Given the description of an element on the screen output the (x, y) to click on. 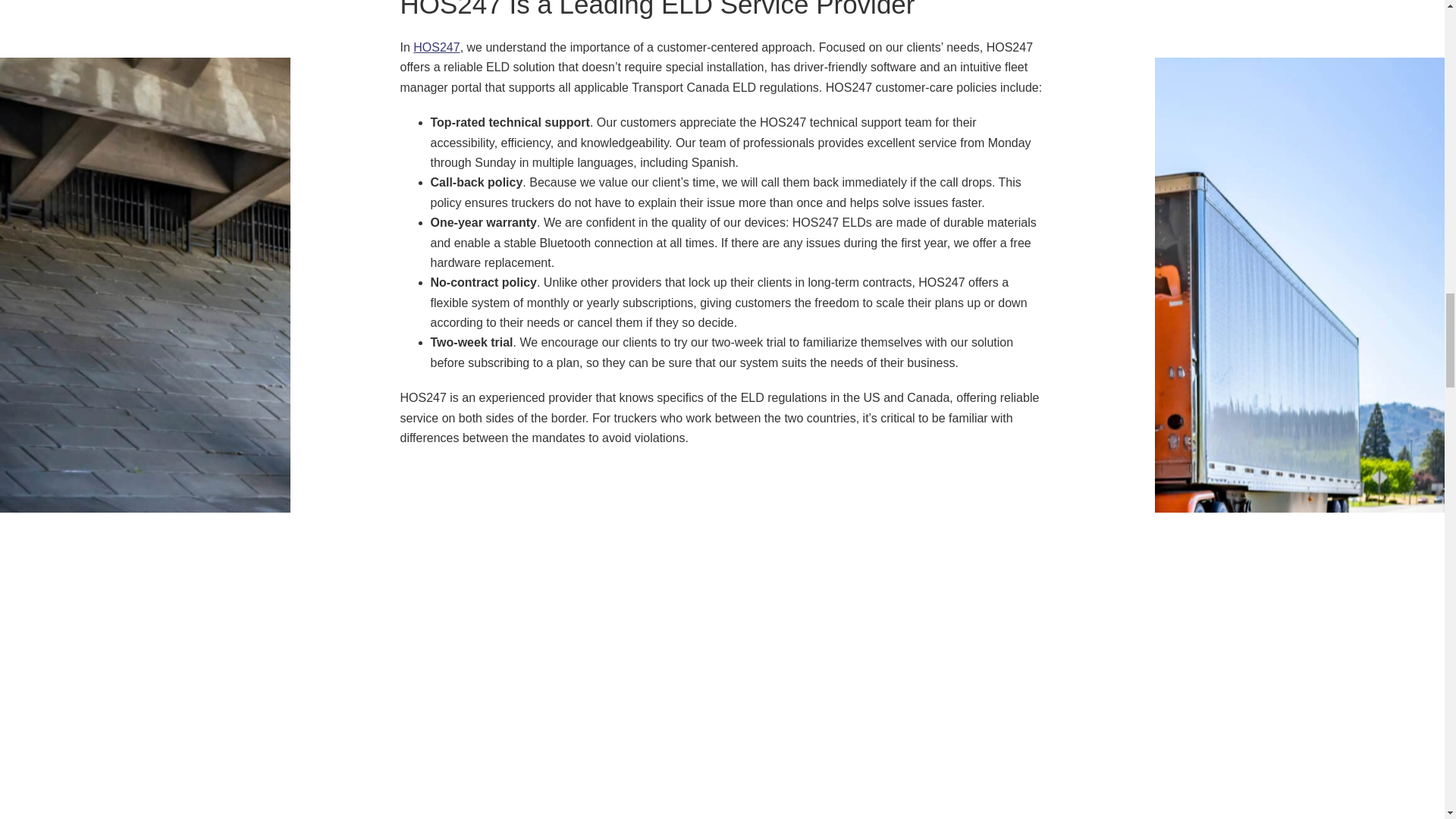
HOS247 (436, 47)
